Given the description of an element on the screen output the (x, y) to click on. 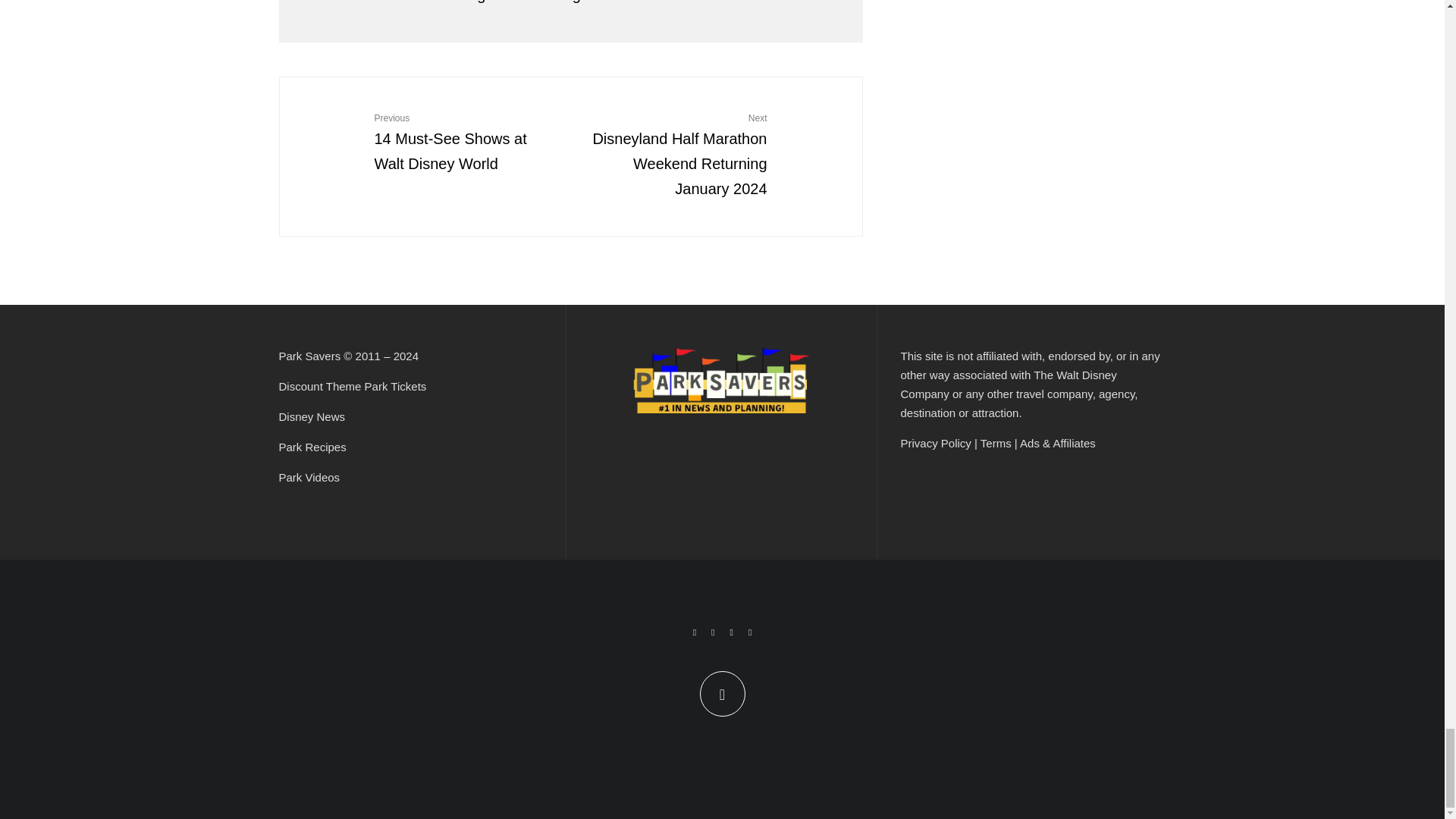
Disneyland Half Marathon Weekend Returning January 2024 19 (809, 130)
14 Must-See Shows at Walt Disney World 18 (333, 130)
